Given the description of an element on the screen output the (x, y) to click on. 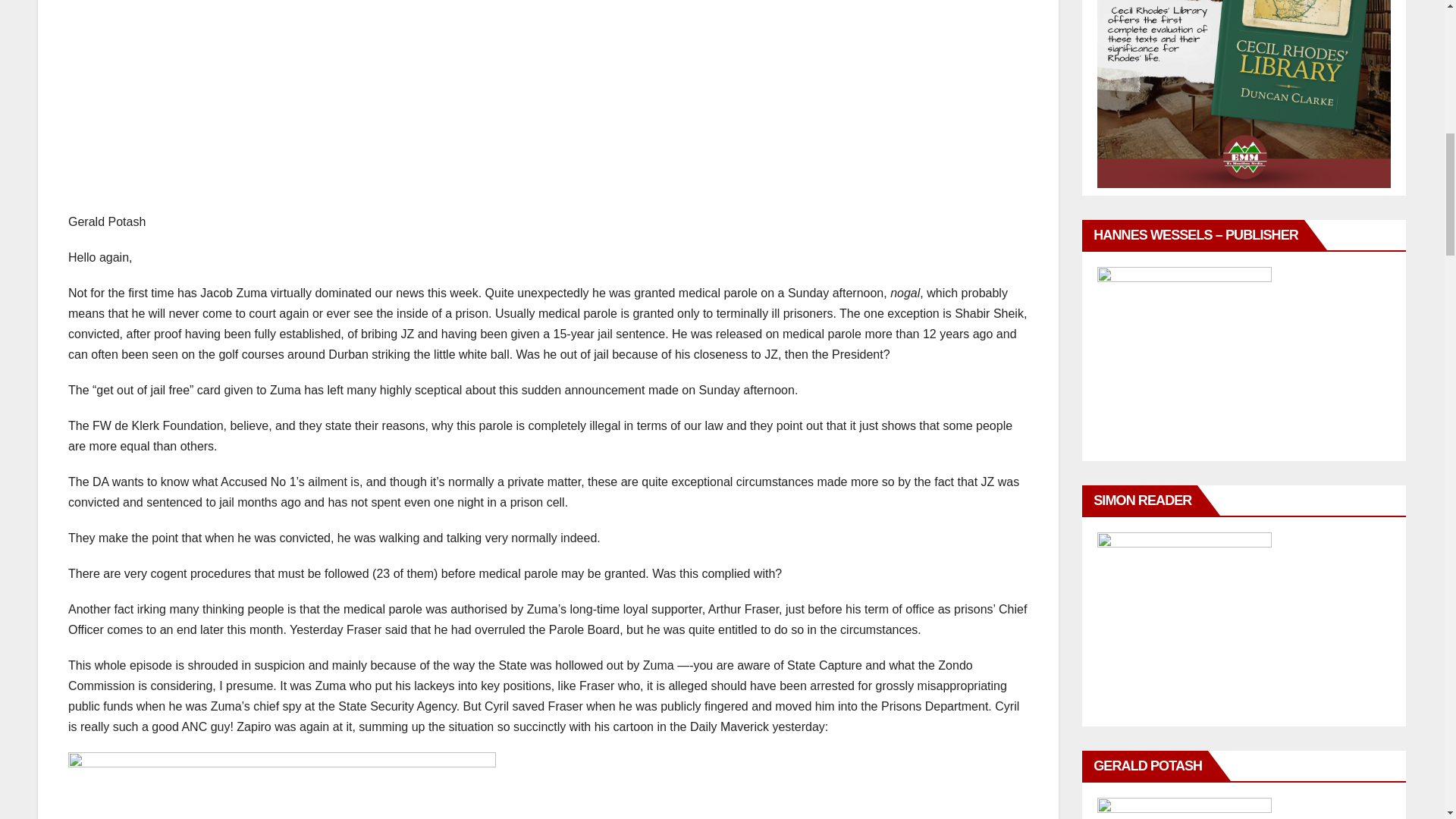
ADVERTISE WITH AFRICA UNAUTHORISED (1243, 93)
